Given the description of an element on the screen output the (x, y) to click on. 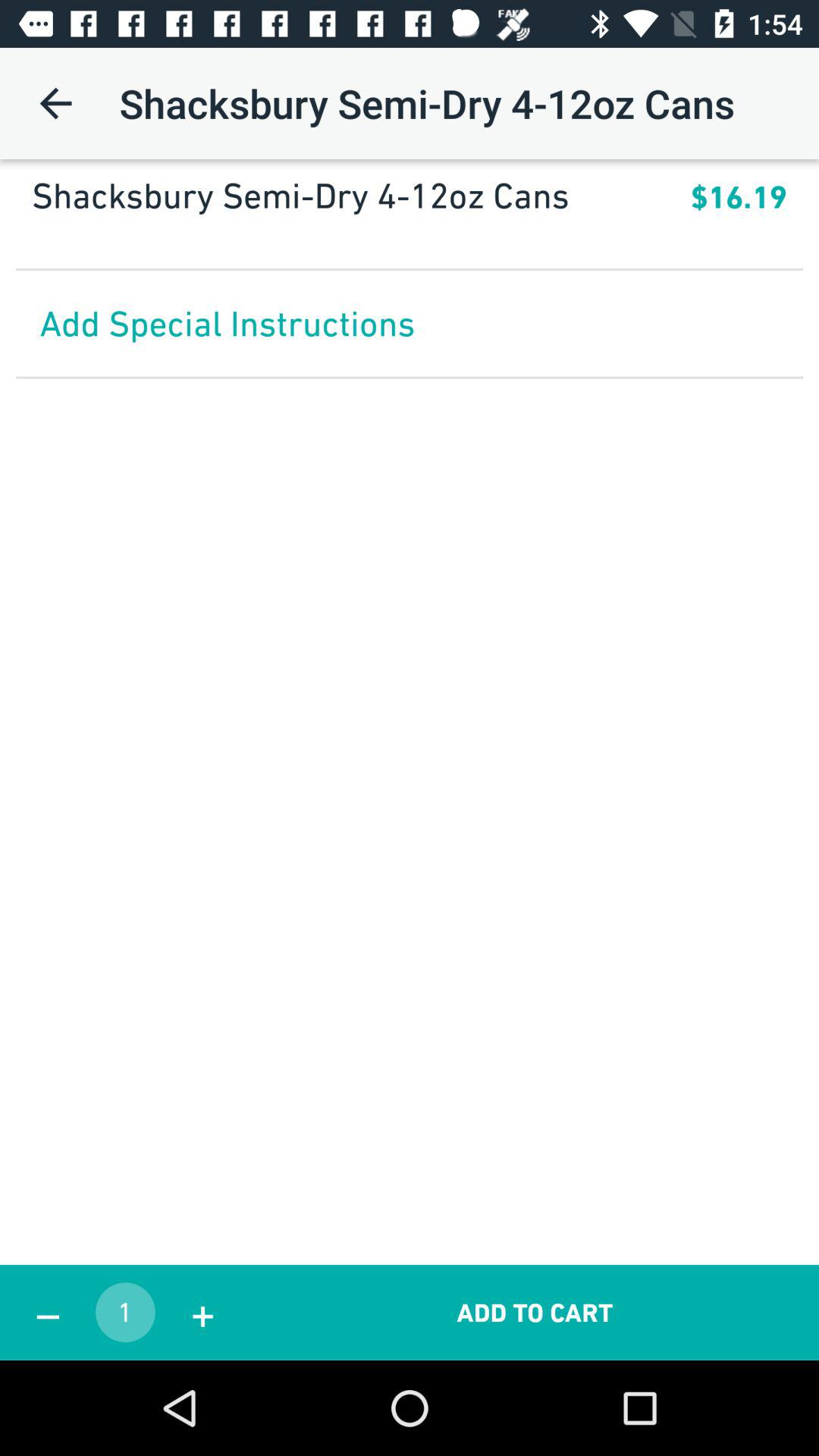
flip until add special instructions icon (409, 323)
